Given the description of an element on the screen output the (x, y) to click on. 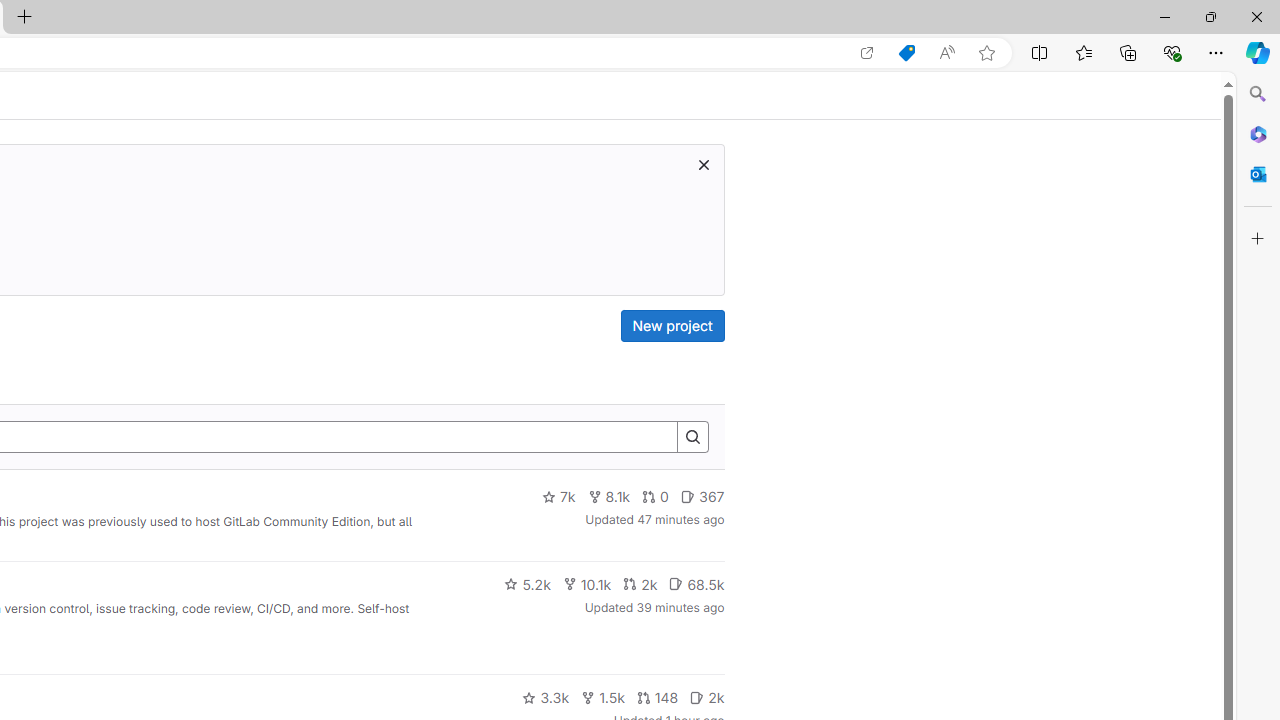
Dismiss trial promotion (703, 164)
68.5k (696, 583)
148 (657, 697)
8.1k (609, 497)
Class: s16 gl-icon gl-button-icon  (703, 164)
3.3k (545, 697)
Open in app (867, 53)
